Given the description of an element on the screen output the (x, y) to click on. 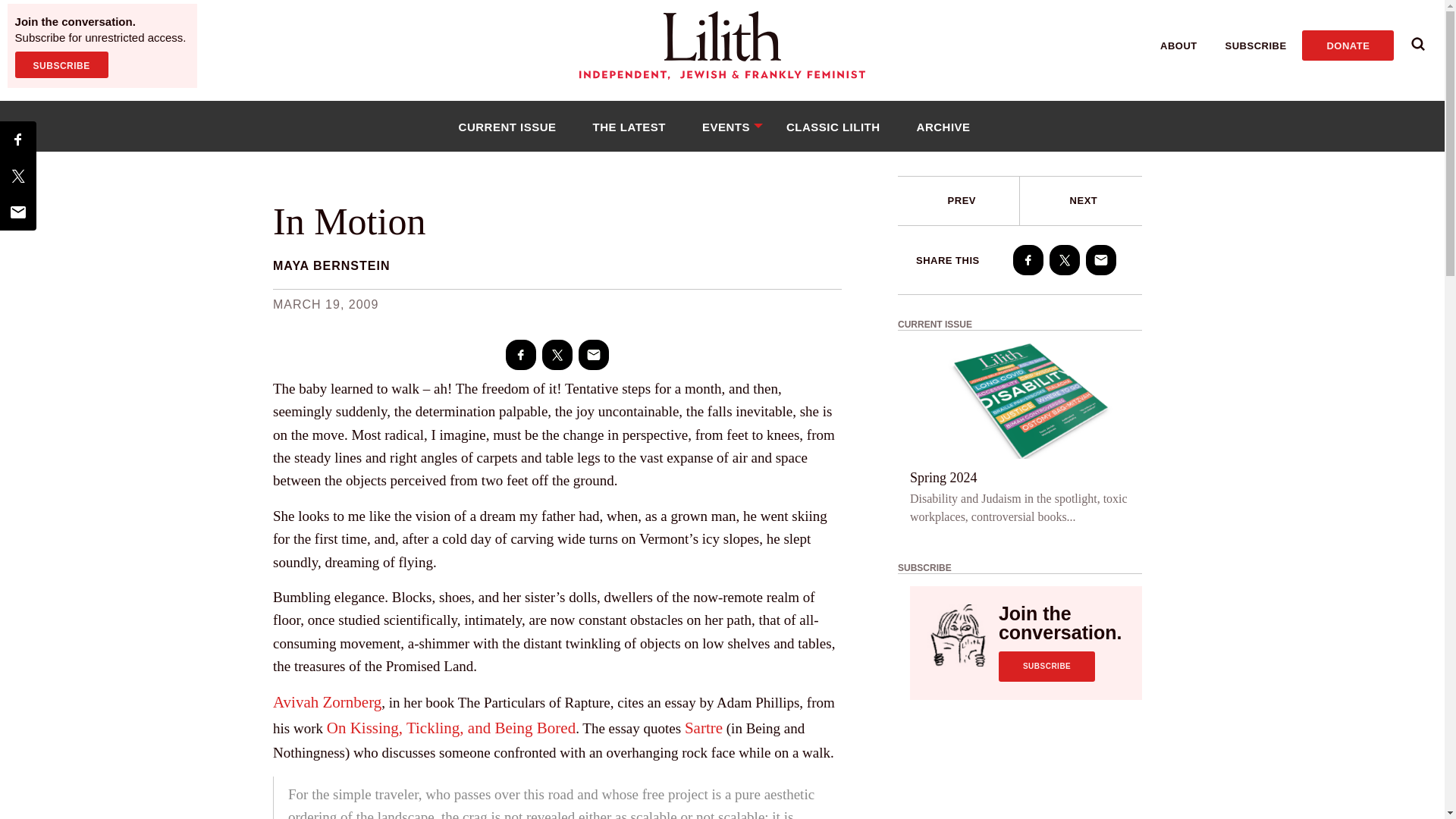
Spring 2024 (943, 477)
PREV (961, 200)
Sartre (703, 728)
EVENTS (726, 126)
Avivah Zornberg (327, 701)
On Kissing, Tickling, and Being Bored (450, 728)
DONATE (1347, 45)
Posts by Maya Bernstein (331, 265)
ARCHIVE (943, 126)
NEXT (1080, 200)
MAYA BERNSTEIN (331, 265)
NEXT (1083, 200)
SUBSCRIBE (1255, 45)
ABOUT (1178, 45)
CURRENT ISSUE (507, 126)
